Given the description of an element on the screen output the (x, y) to click on. 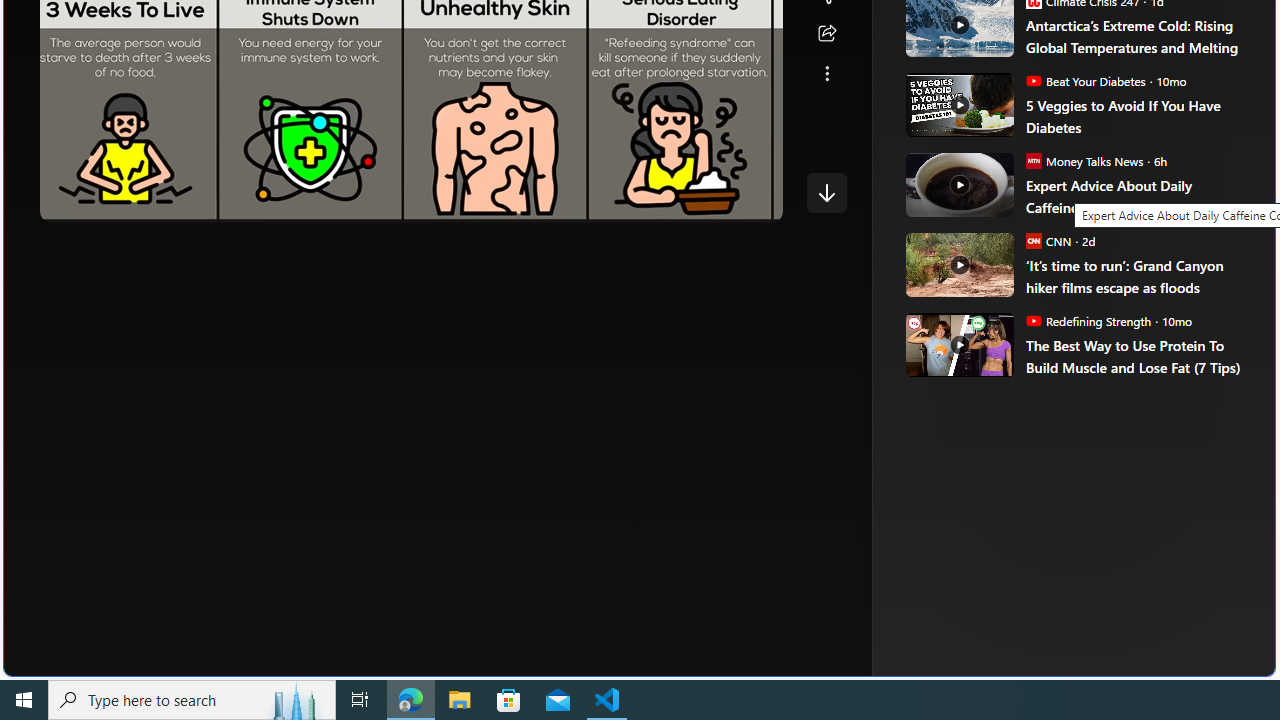
Feedback (1199, 659)
Ad Choice (1212, 336)
Class: control (826, 192)
Redefining Strength Redefining Strength (1088, 320)
See more (826, 74)
Expert Advice About Daily Caffeine Consumption (958, 183)
CNN CNN (1048, 240)
Money Talks News (1033, 160)
Unmute (m) (118, 202)
Beat Your Diabetes (1033, 80)
Pause (k) (75, 202)
5 Veggies to Avoid If You Have Diabetes (958, 104)
